Given the description of an element on the screen output the (x, y) to click on. 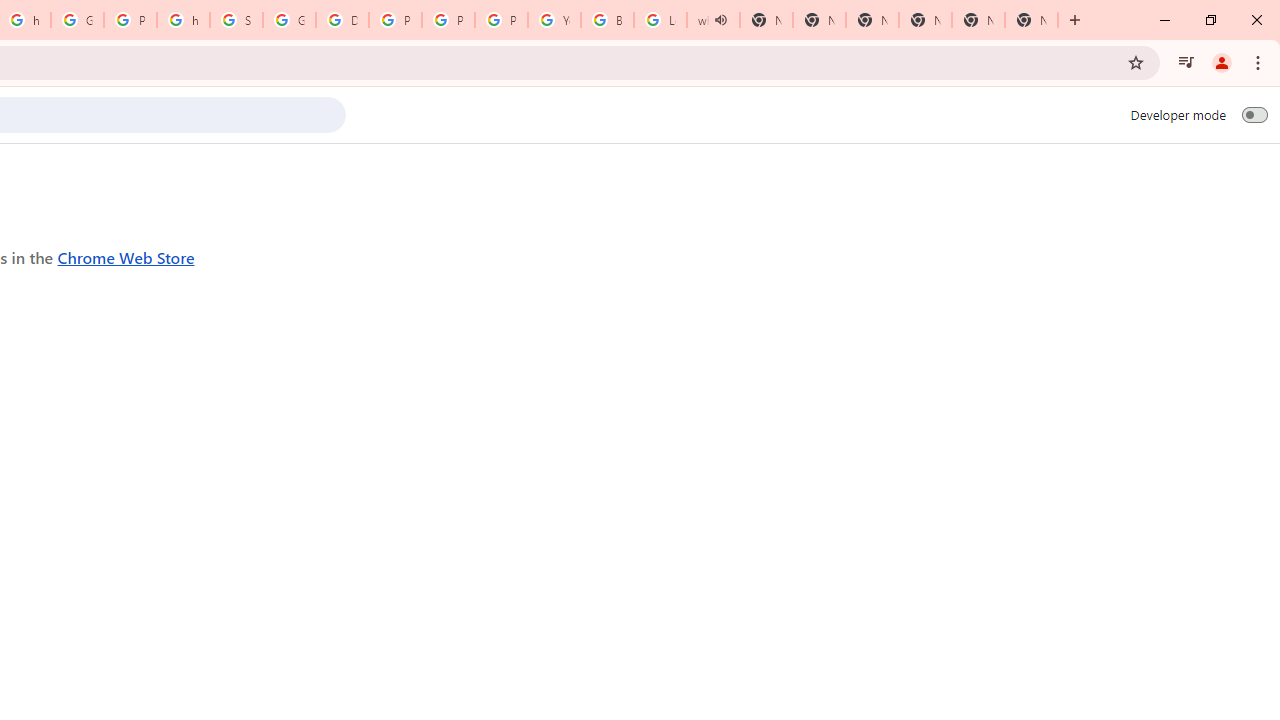
Chrome Web Store (125, 256)
YouTube (554, 20)
https://scholar.google.com/ (183, 20)
Sign in - Google Accounts (235, 20)
Privacy Help Center - Policies Help (448, 20)
